Given the description of an element on the screen output the (x, y) to click on. 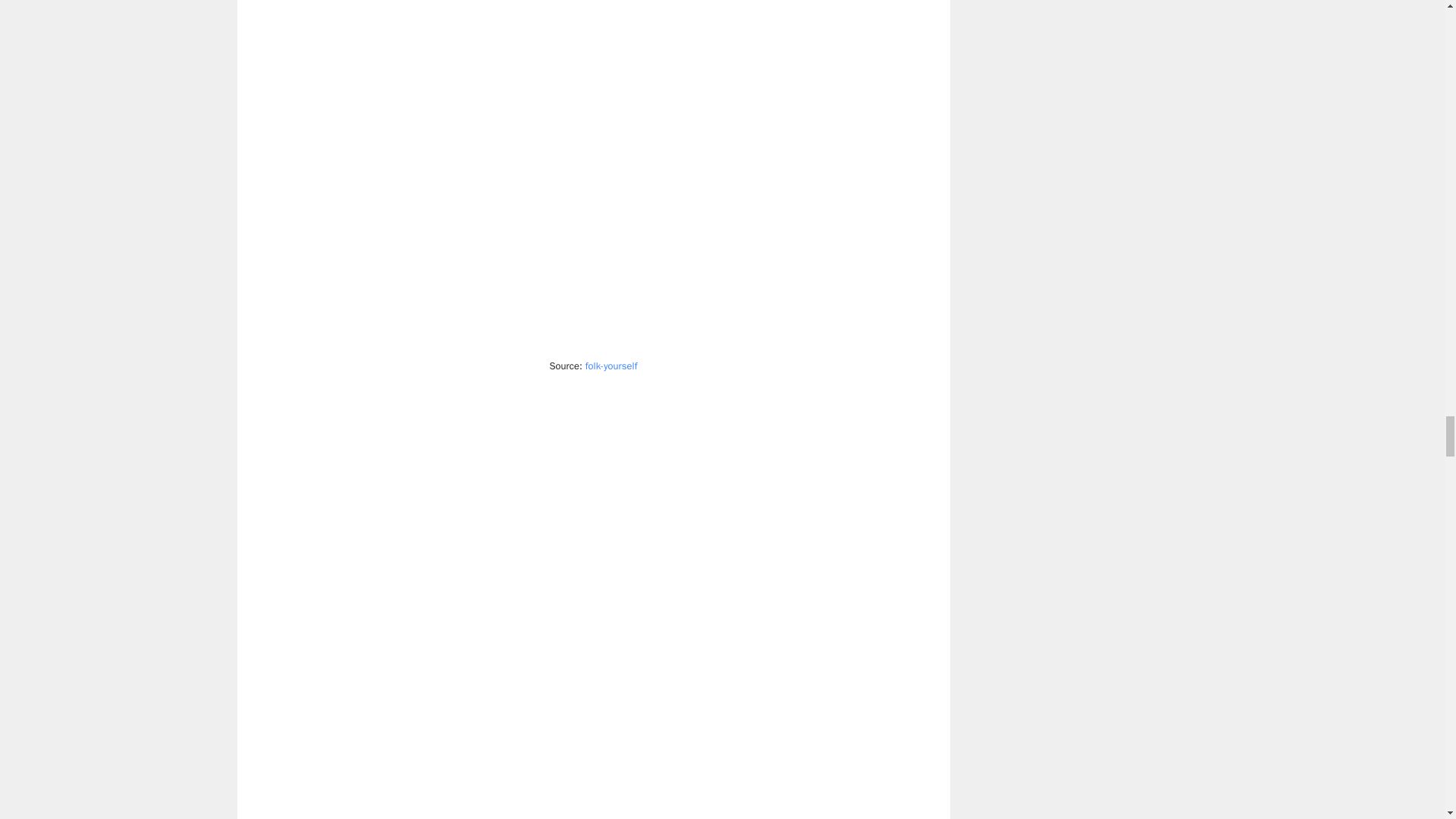
folk-yourself (611, 365)
